Given the description of an element on the screen output the (x, y) to click on. 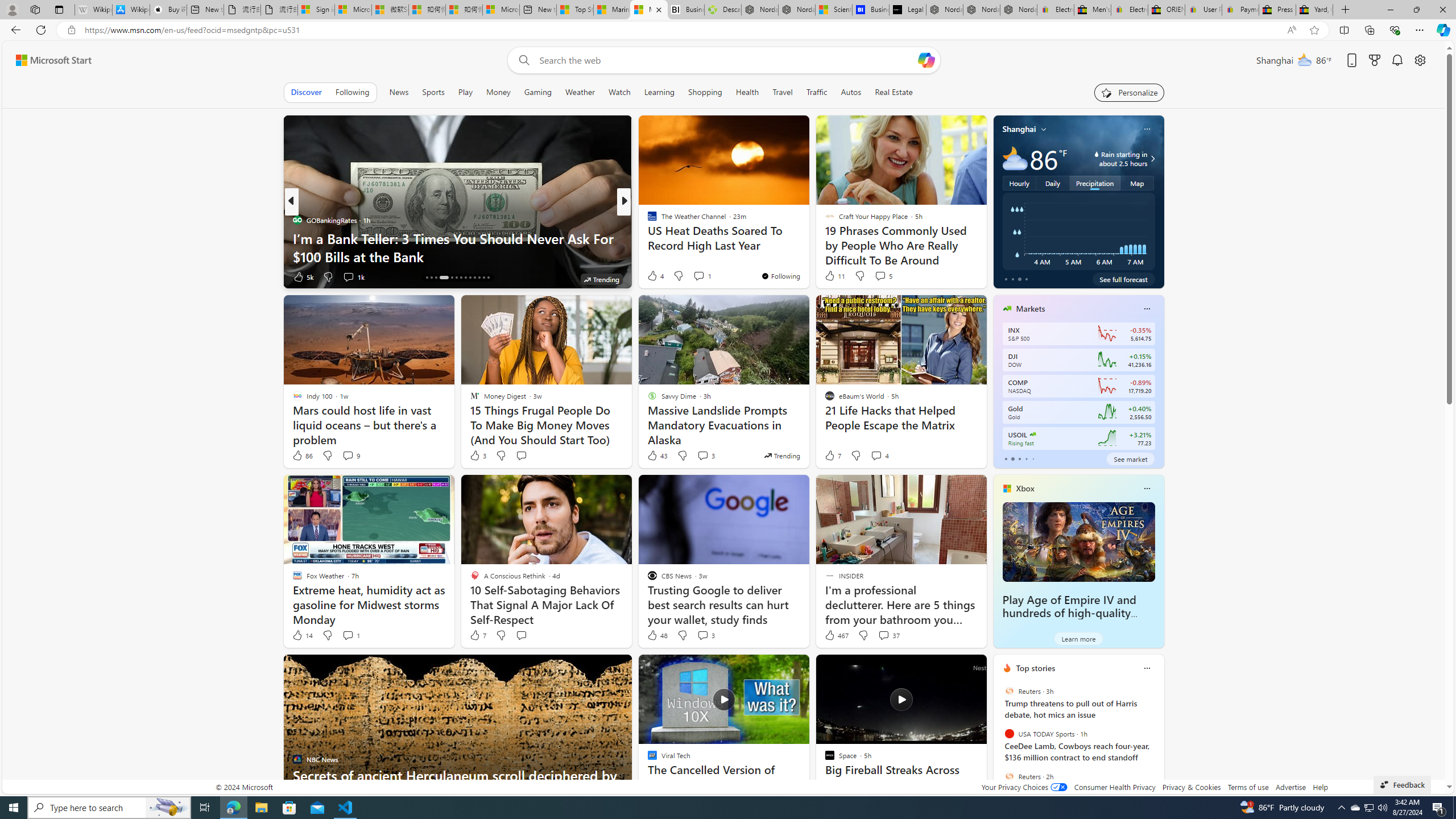
Health (746, 92)
tab-3 (1025, 458)
Start the conversation (521, 635)
Traffic (816, 92)
Sign in to your Microsoft account (315, 9)
AutomationID: tab-15 (431, 277)
View comments 339 Comment (703, 276)
43 Like (657, 455)
